Given the description of an element on the screen output the (x, y) to click on. 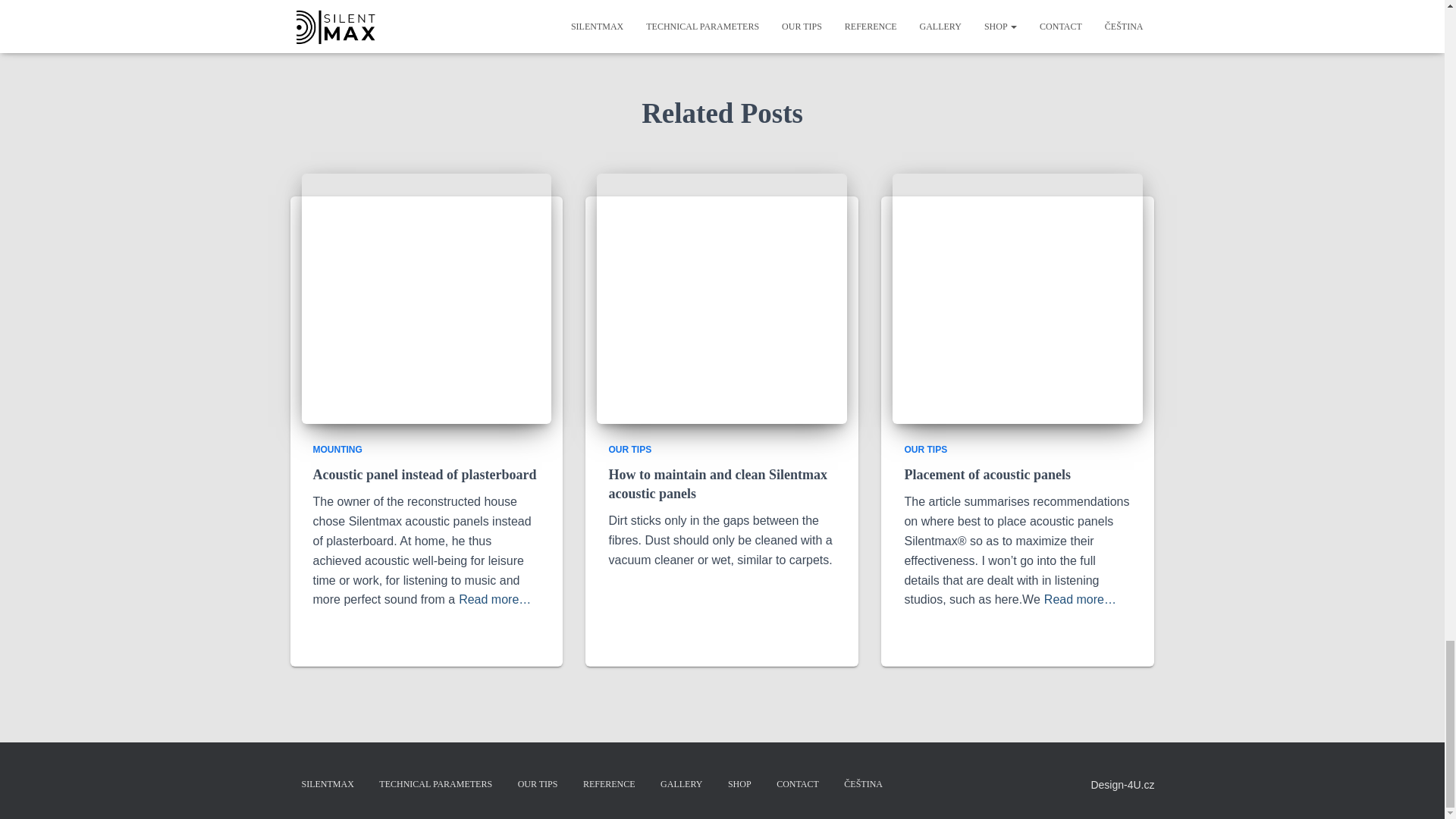
MOUNTING (337, 449)
SHOP (739, 783)
TECHNICAL PARAMETERS (435, 783)
REFERENCE (609, 783)
Placement of acoustic panels (987, 474)
Design-4U.cz (1122, 784)
OUR TIPS (925, 449)
OUR TIPS (629, 449)
Acoustic panel instead of plasterboard (424, 474)
How to maintain and clean Silentmax acoustic panels (717, 483)
SILENTMAX (327, 783)
OUR TIPS (537, 783)
GALLERY (681, 783)
CONTACT (797, 783)
